Given the description of an element on the screen output the (x, y) to click on. 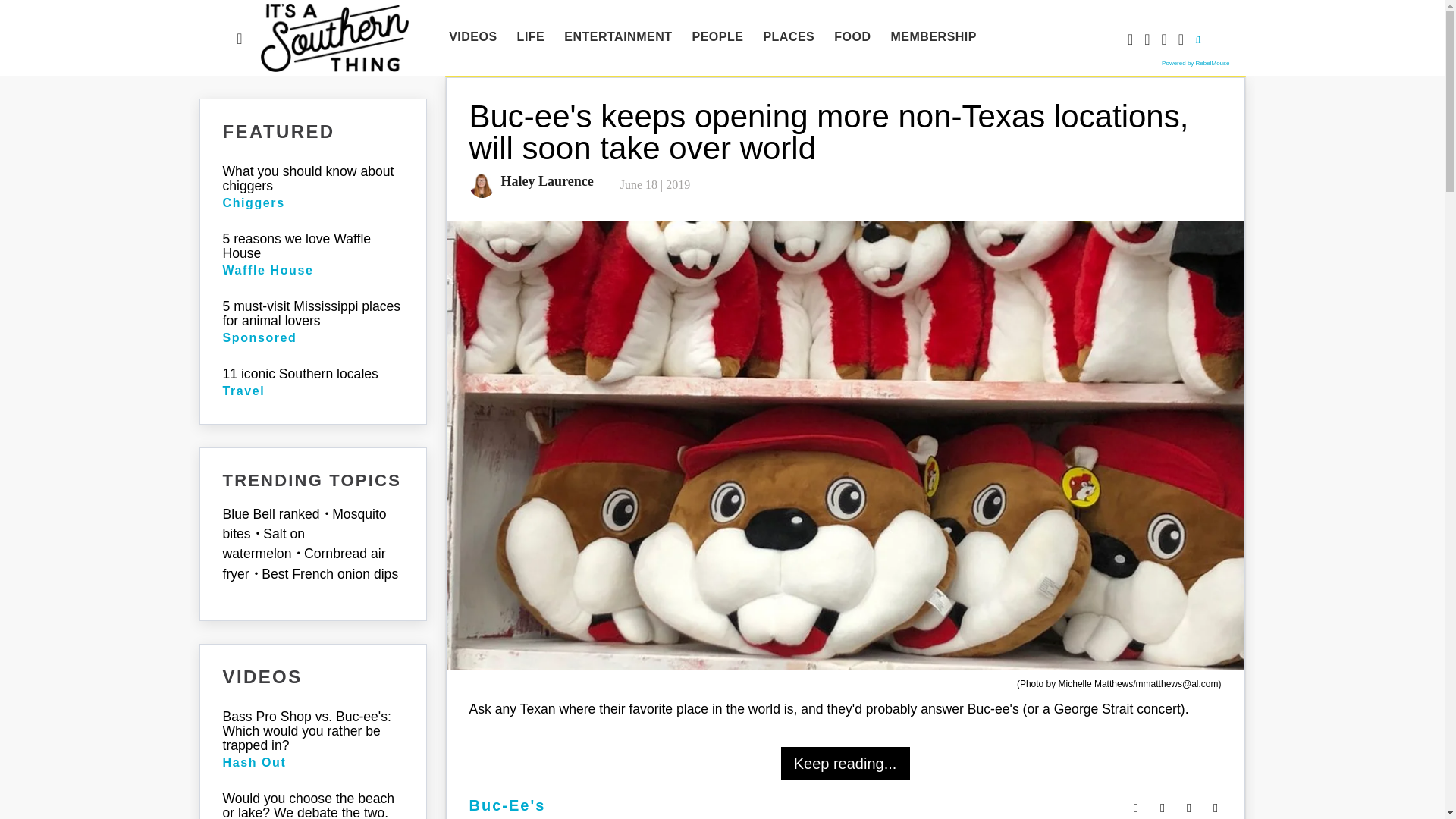
Powered by RebelMouse (1194, 62)
Best CMS  (1194, 62)
VIDEOS (472, 36)
MEMBERSHIP (933, 36)
ENTERTAINMENT (617, 36)
FOOD (852, 36)
Haley Laurence (543, 181)
Buc-Ee'S (506, 805)
PEOPLE (716, 36)
LIFE (530, 36)
